Given the description of an element on the screen output the (x, y) to click on. 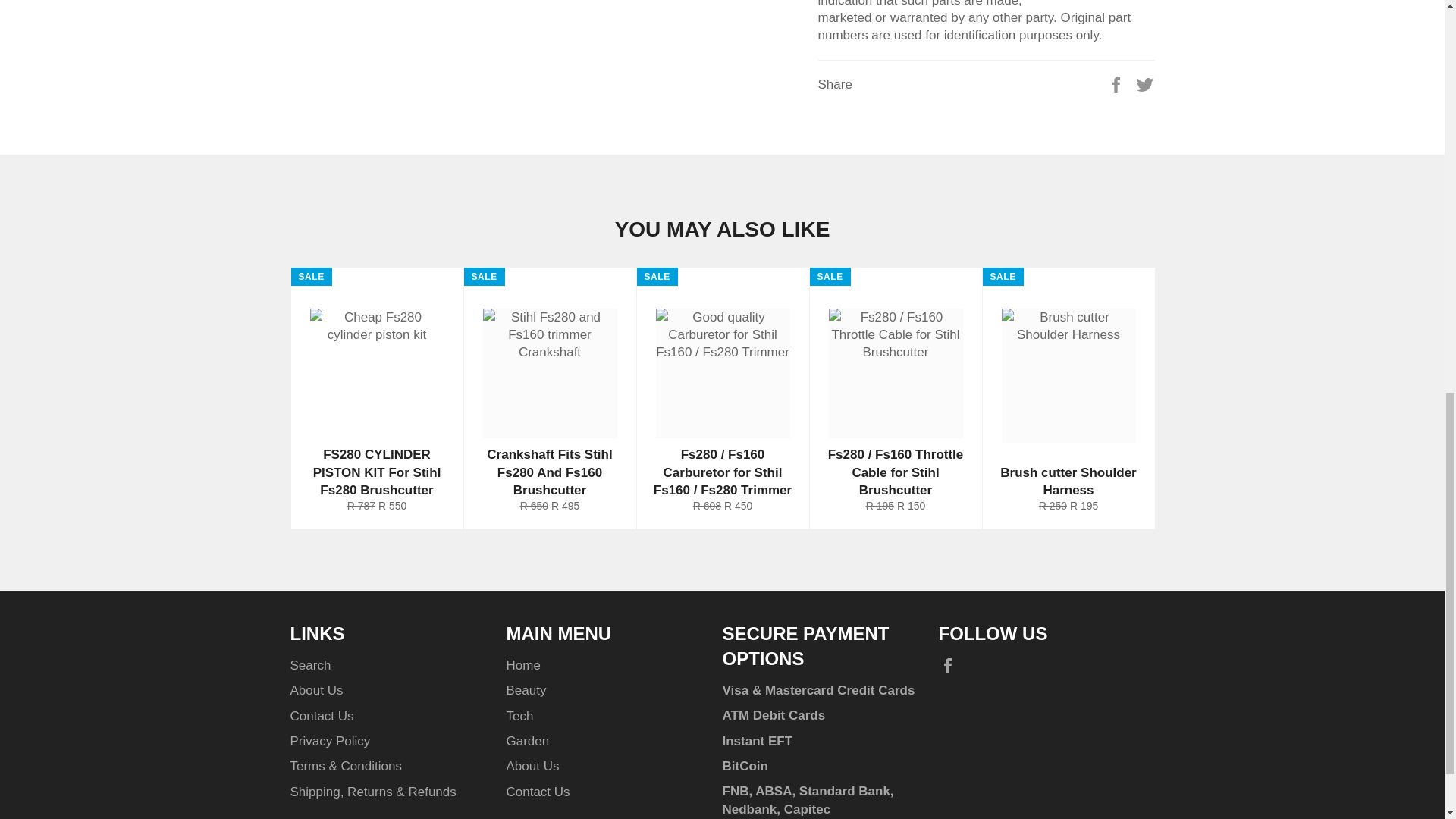
bargainbazaar on Facebook (951, 665)
Tweet on Twitter (1144, 83)
Share on Facebook (1117, 83)
